Given the description of an element on the screen output the (x, y) to click on. 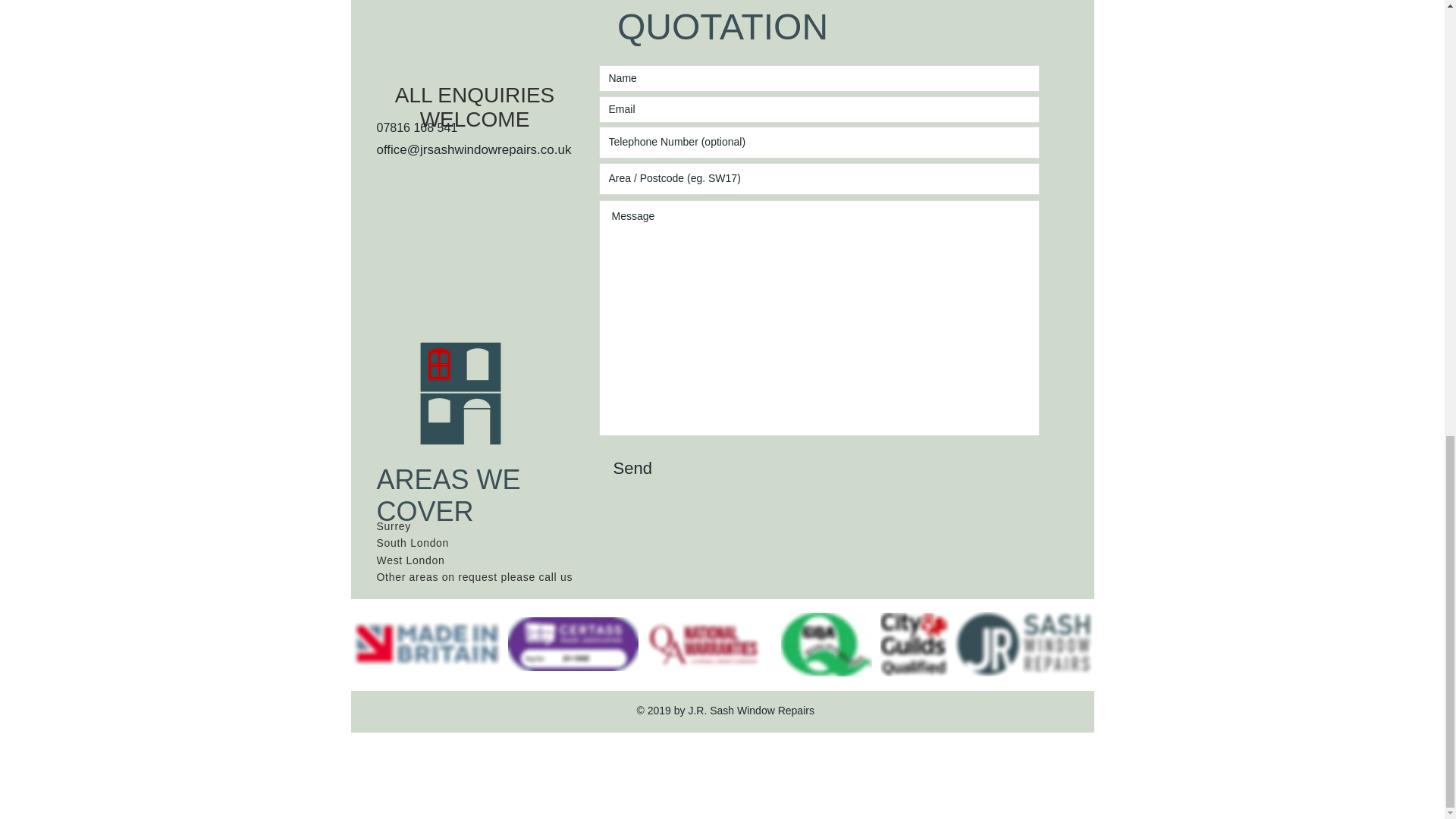
Send (637, 468)
07816 168 541 (416, 127)
